Given the description of an element on the screen output the (x, y) to click on. 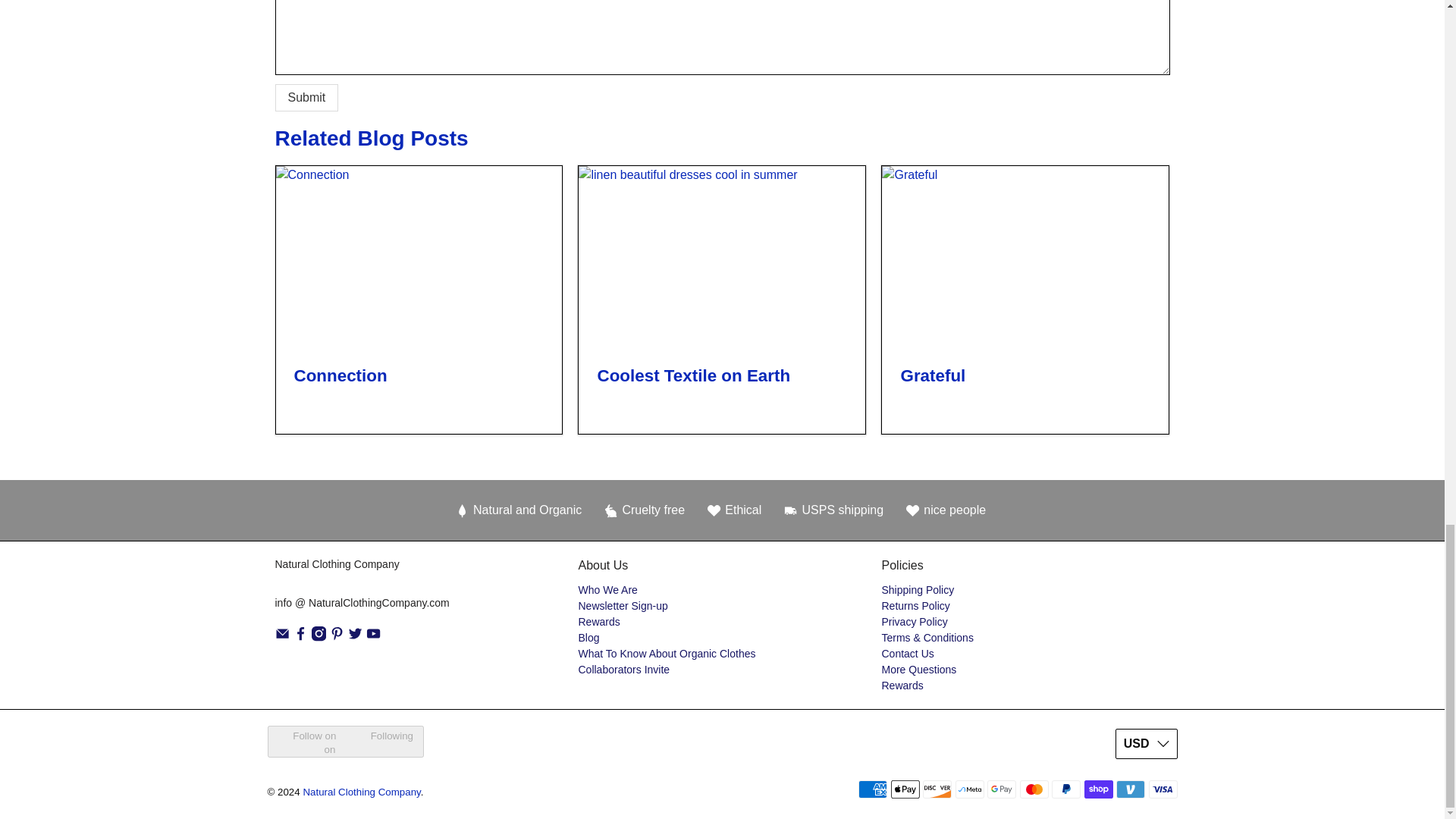
Discover (937, 789)
Submit (306, 97)
Connection (419, 257)
Natural Clothing Company (360, 575)
Connection (340, 375)
Natural Clothing Company on YouTube (373, 637)
Grateful (932, 375)
Natural Clothing Company on Twitter (354, 637)
Apple Pay (905, 789)
Coolest Textile on Earth (693, 375)
